Given the description of an element on the screen output the (x, y) to click on. 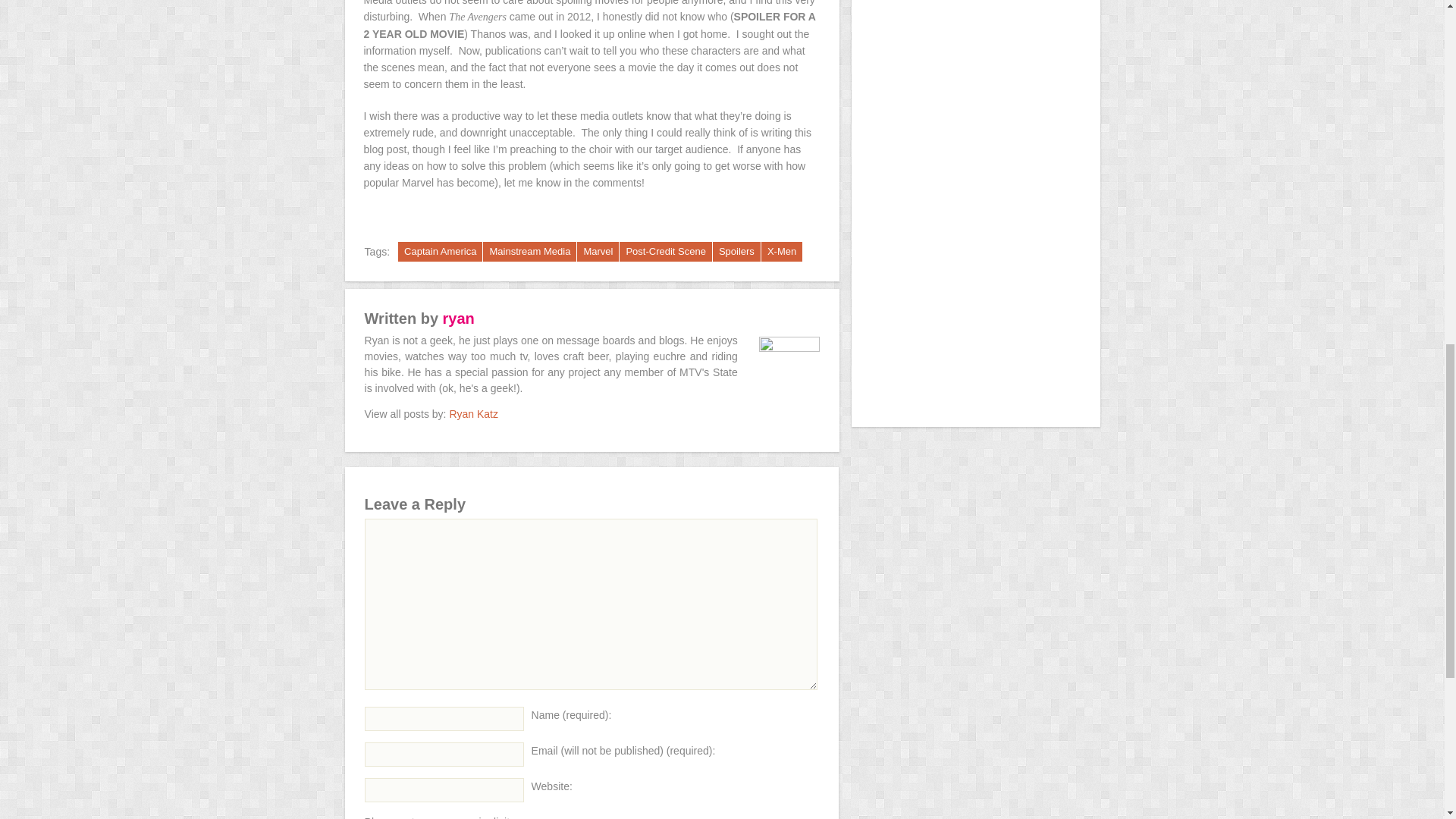
Posts by Ryan Katz (472, 413)
